Given the description of an element on the screen output the (x, y) to click on. 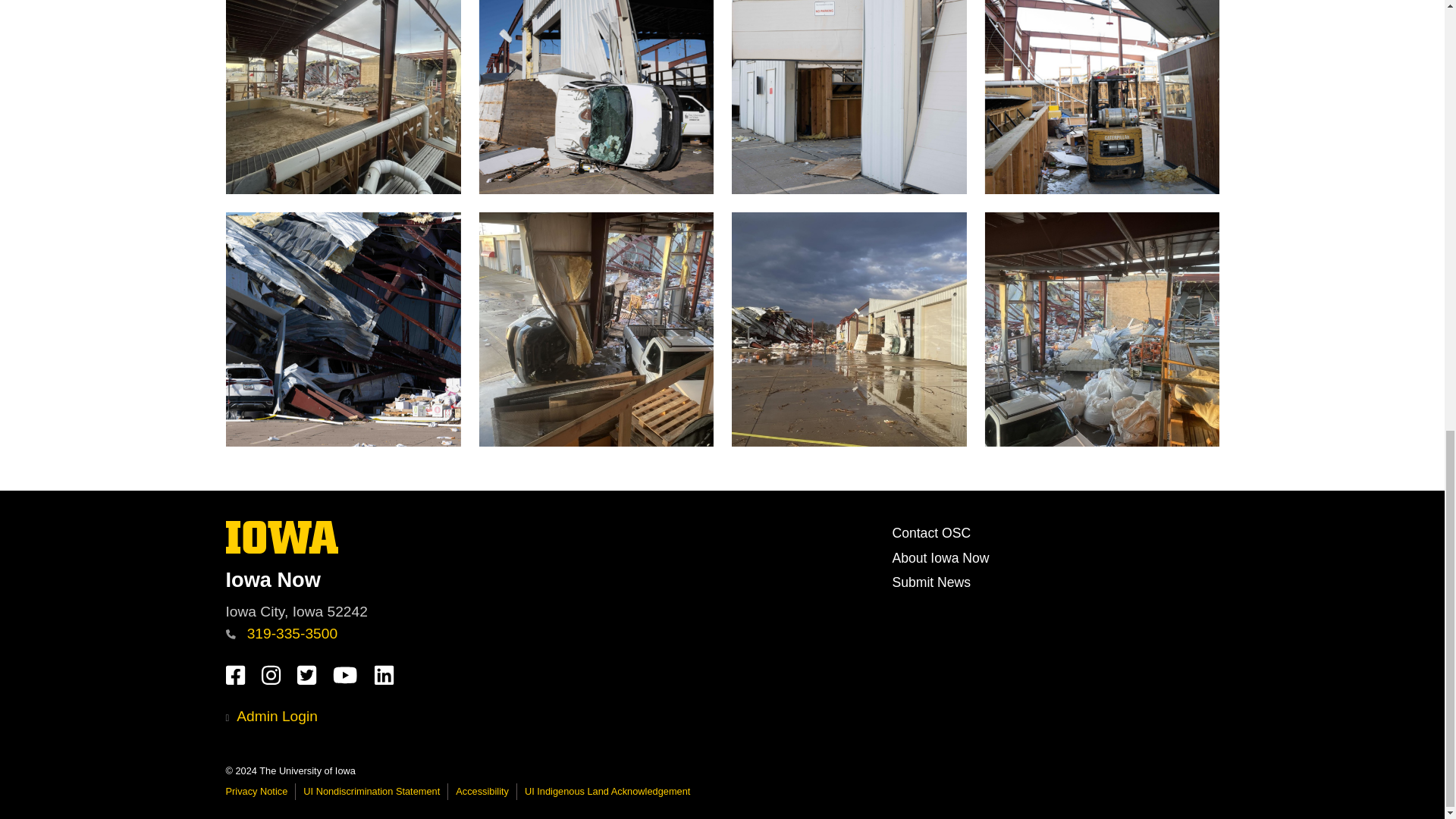
About Iowa Now (939, 557)
Iowa Now (282, 549)
University of Iowa (552, 579)
319-335-3500 (282, 536)
Contact OSC (281, 633)
Submit News (931, 532)
Admin Login (931, 581)
